Given the description of an element on the screen output the (x, y) to click on. 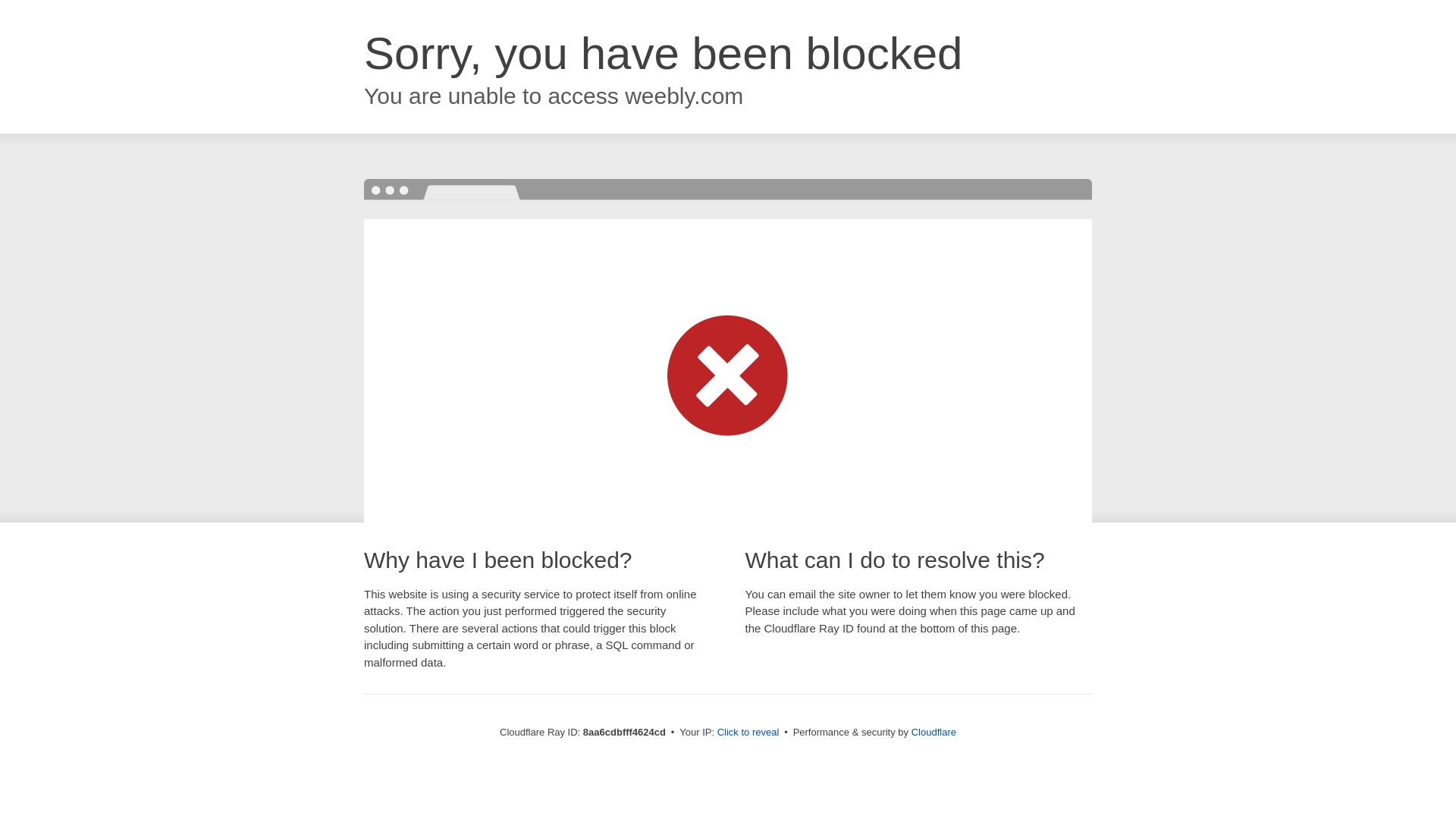
Click to reveal (747, 732)
Cloudflare (933, 731)
